Given the description of an element on the screen output the (x, y) to click on. 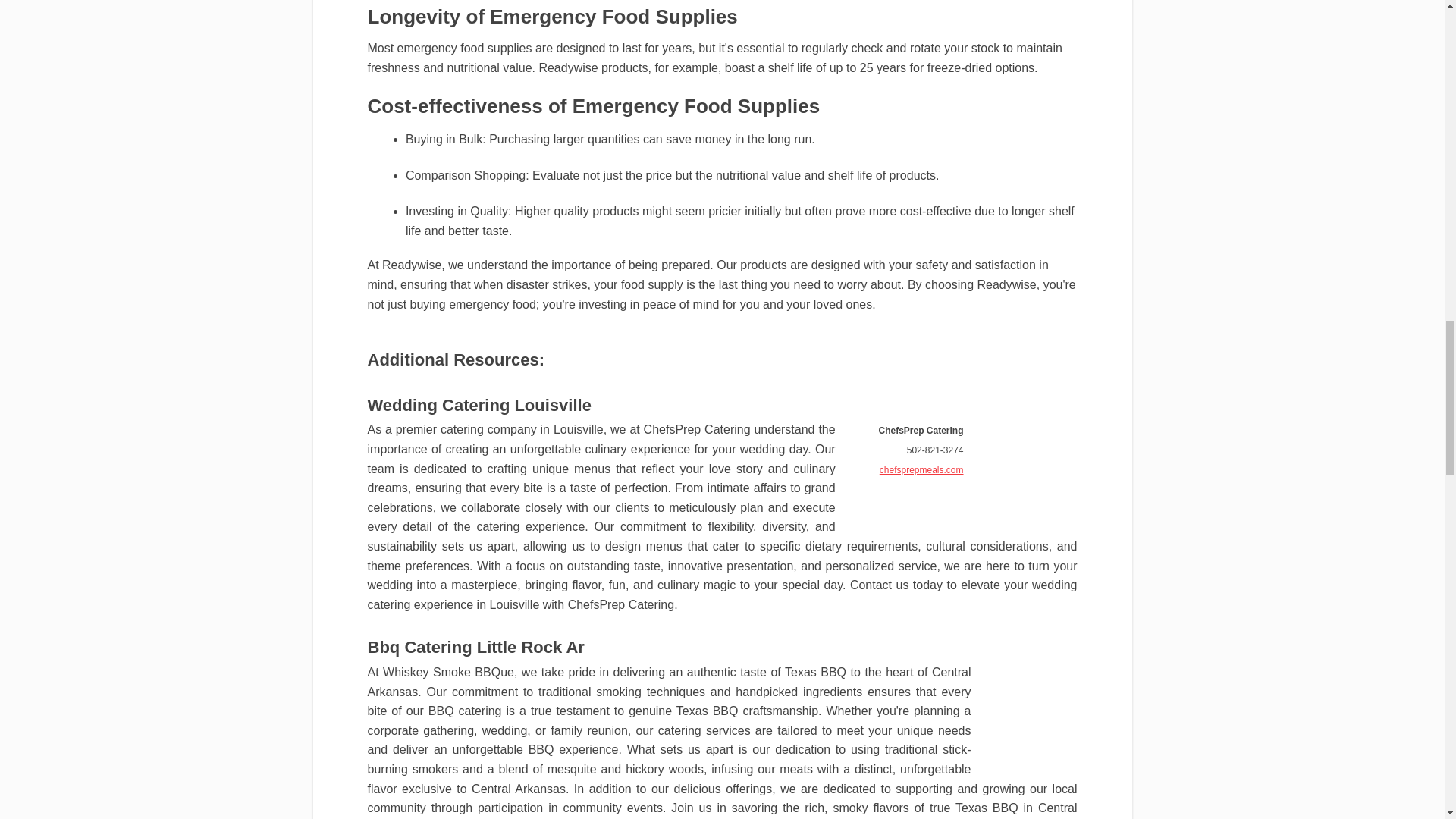
Wedding Catering Louisville (478, 404)
chefsprepmeals.com (921, 470)
Bbq Catering Little Rock Ar (474, 647)
best emergency food supply - Resources 2 (1027, 461)
Bbq Catering Little Rock Ar (474, 647)
Wedding Catering Louisville (478, 404)
best emergency food supply - Resources 3 (1031, 704)
